Given the description of an element on the screen output the (x, y) to click on. 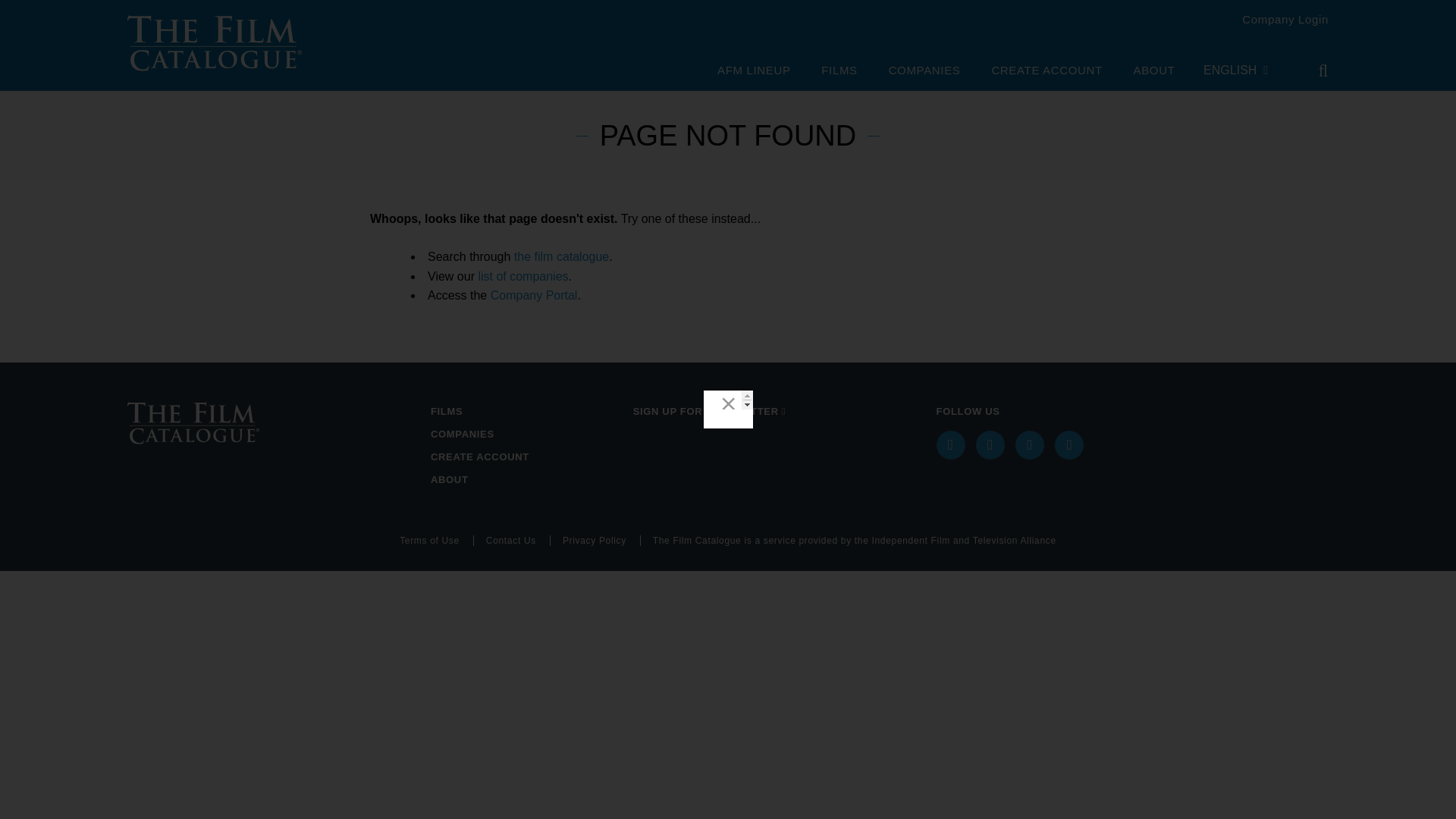
list of companies (522, 276)
GO (1312, 70)
FILMS (839, 71)
GO (1312, 70)
COMPANIES (924, 71)
ABOUT (525, 479)
AFM LINEUP (753, 71)
Contact Us (518, 540)
CREATE ACCOUNT (525, 456)
Terms of Use (436, 540)
